Given the description of an element on the screen output the (x, y) to click on. 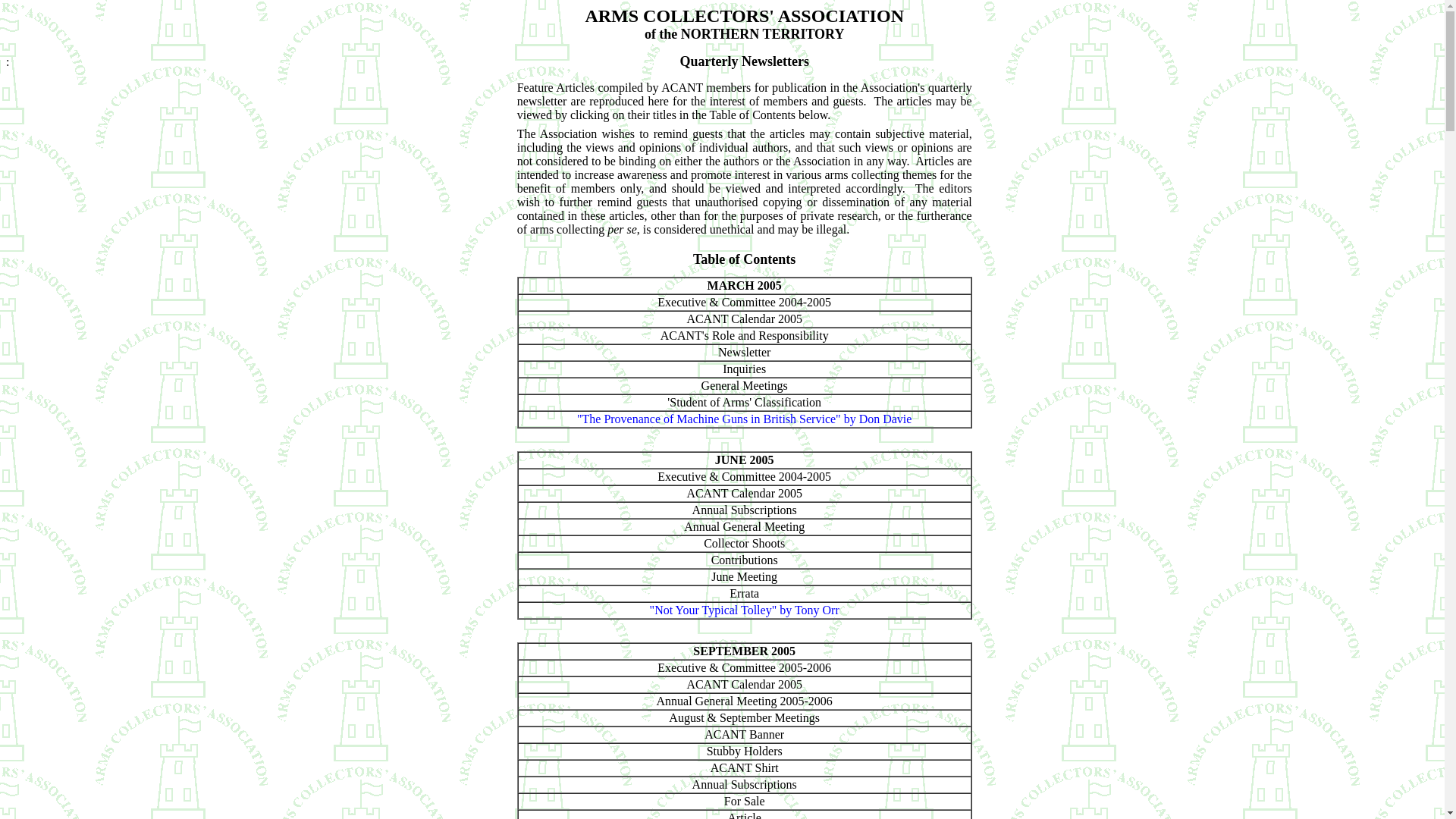
"Not Your Typical Tolley" by Tony Orr Element type: text (744, 609)
